Given the description of an element on the screen output the (x, y) to click on. 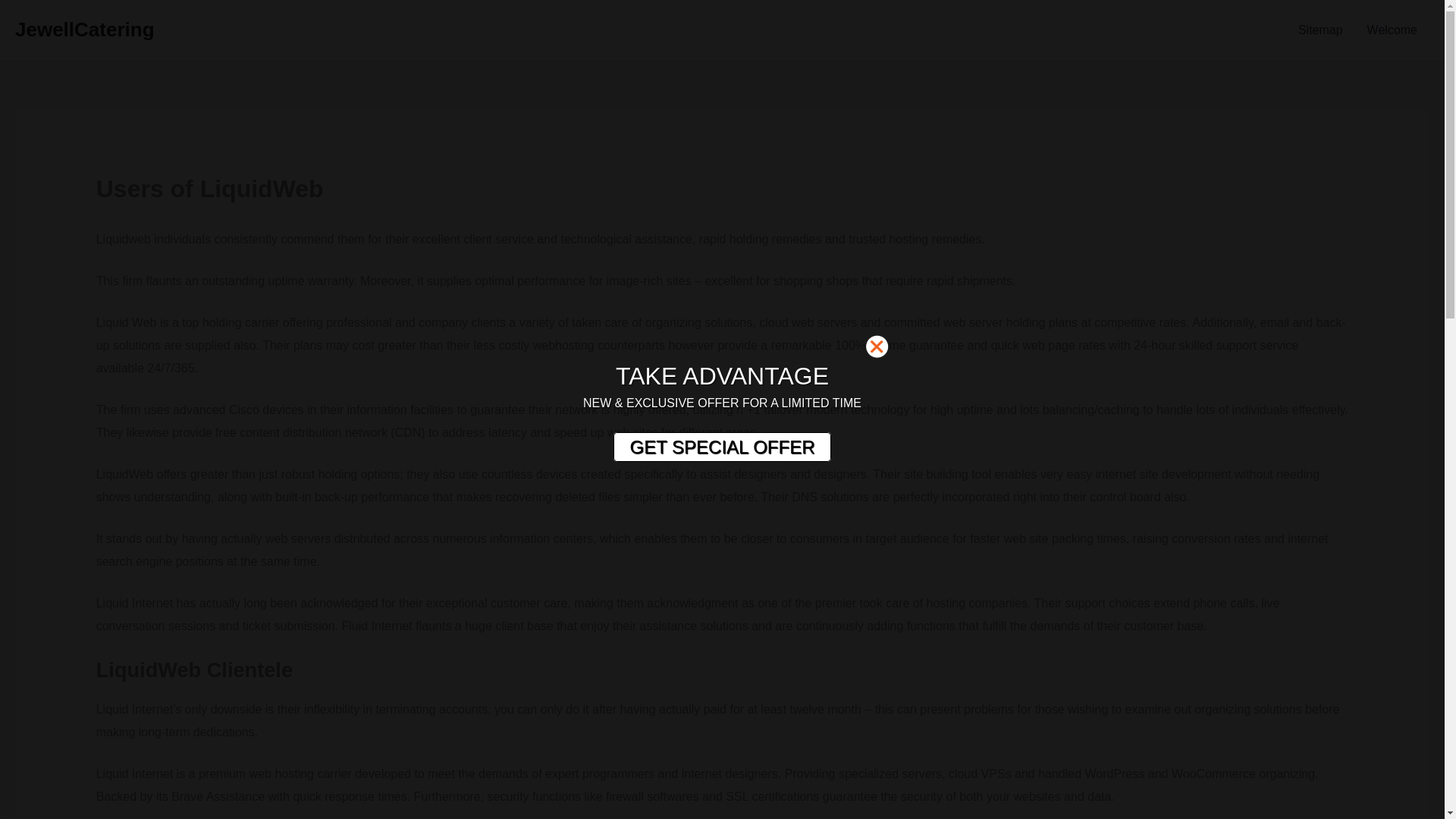
GET SPECIAL OFFER (720, 446)
JewellCatering (84, 29)
Sitemap (1320, 30)
Welcome (1392, 30)
